Given the description of an element on the screen output the (x, y) to click on. 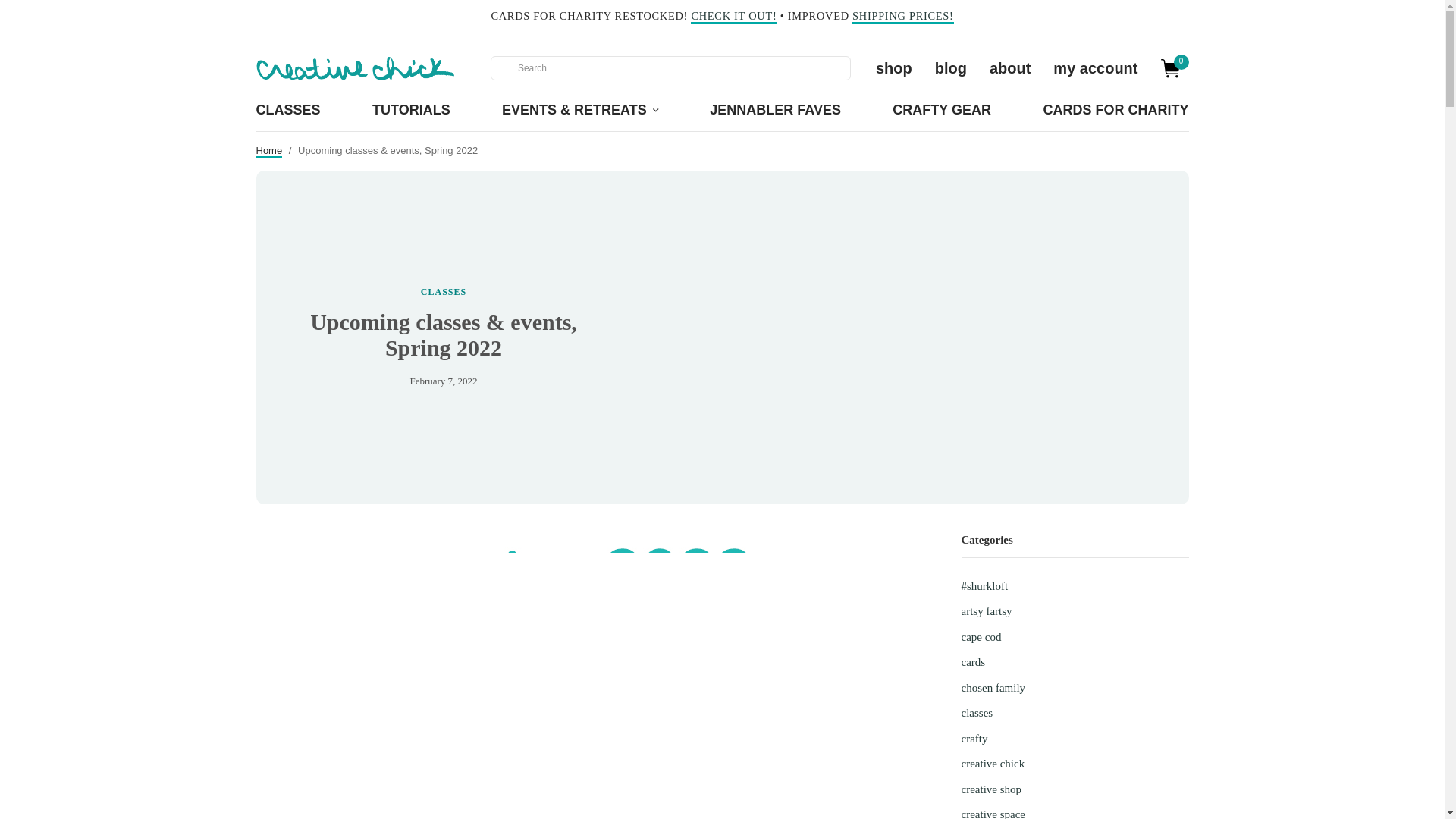
shop (894, 68)
blog (950, 68)
JENNABLER FAVES (775, 110)
about (1010, 68)
CARDS FOR CHARITY (1115, 110)
CLASSES (442, 291)
SHIPPING PRICES! (902, 16)
Home (269, 151)
Search (501, 68)
CHECK IT OUT! (733, 16)
